Given the description of an element on the screen output the (x, y) to click on. 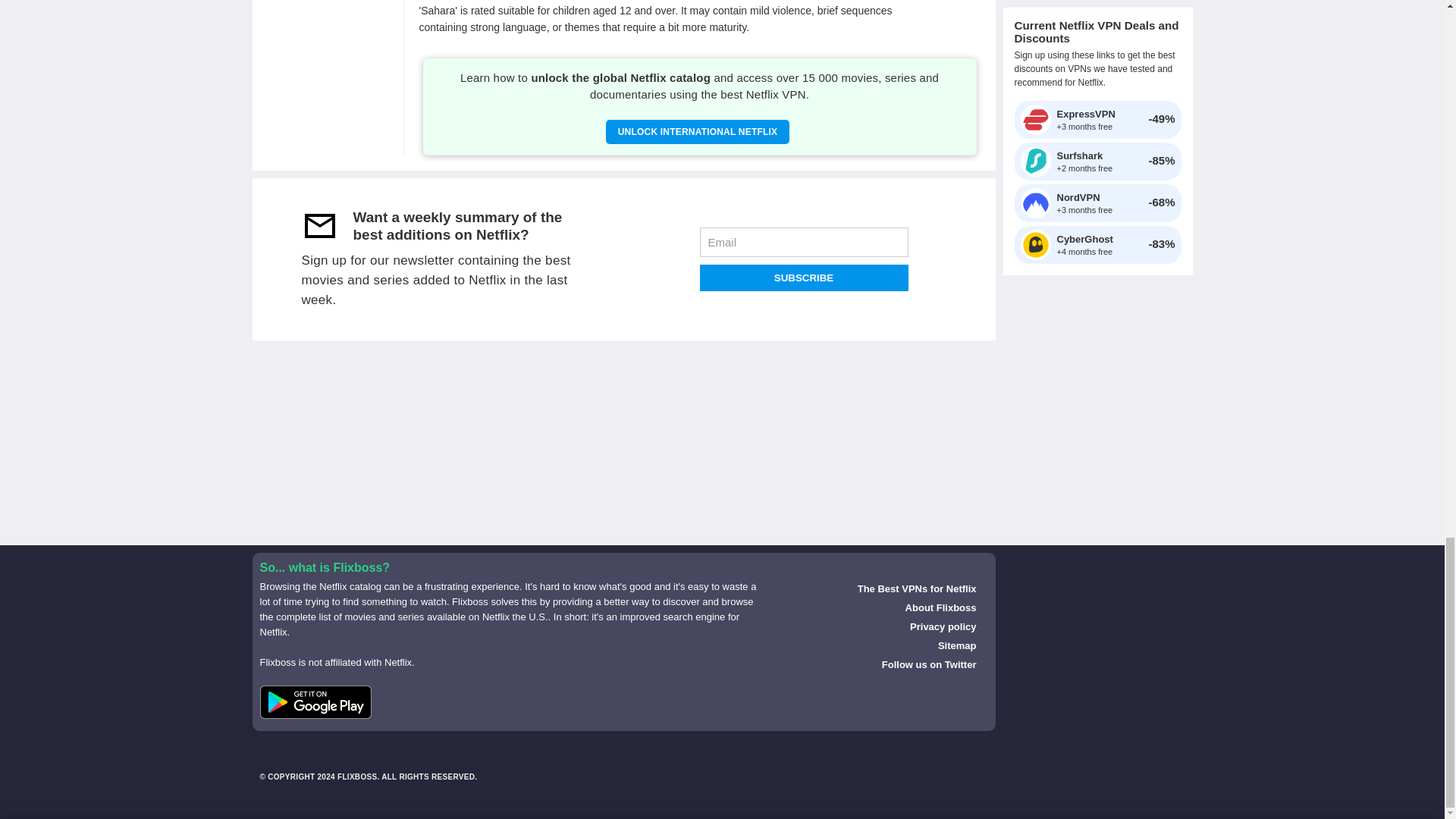
Subscribe (802, 277)
